Given the description of an element on the screen output the (x, y) to click on. 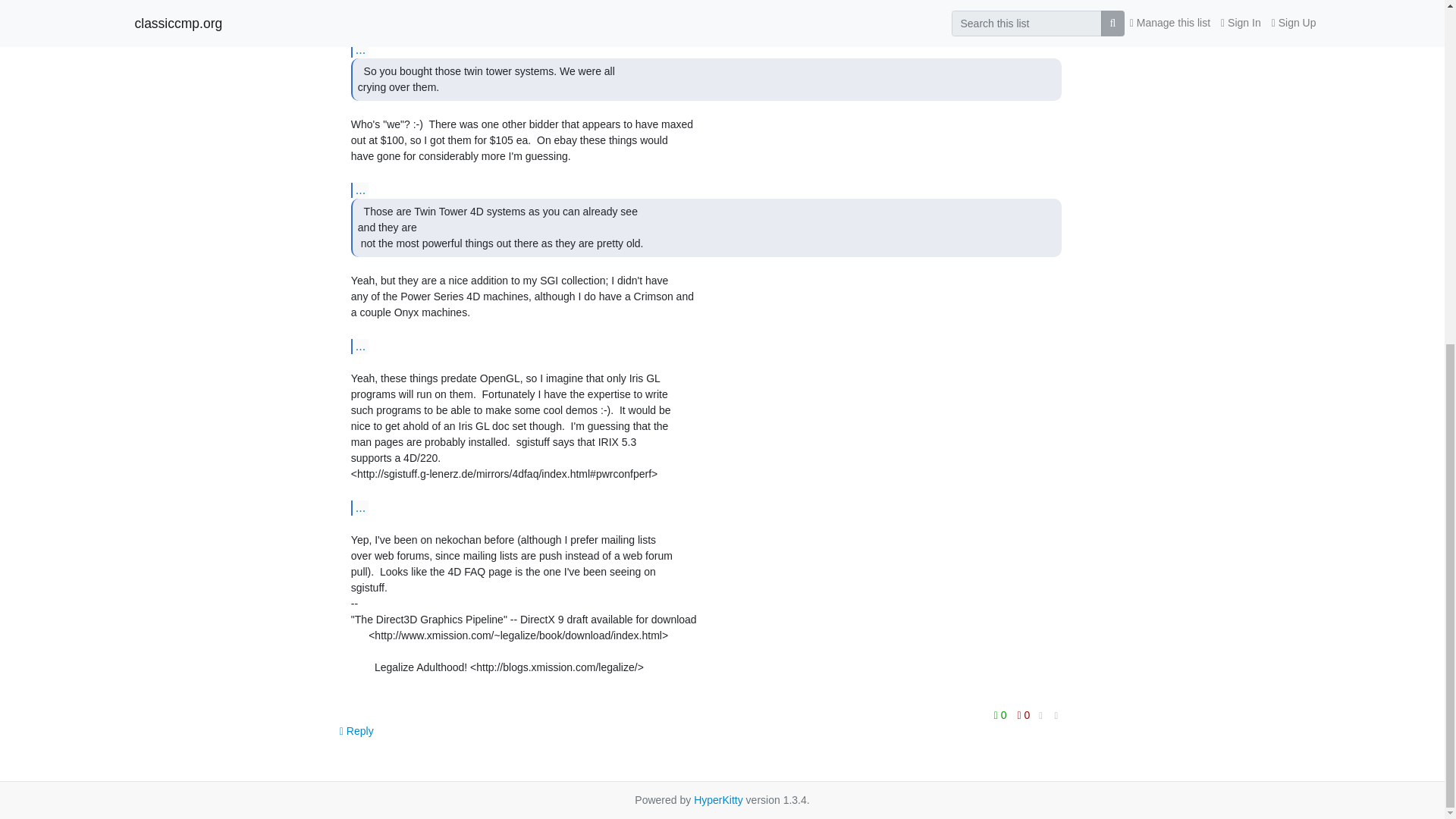
Sign in to reply online (356, 730)
You must be logged-in to vote. (1023, 714)
You must be logged-in to vote. (1001, 714)
